Given the description of an element on the screen output the (x, y) to click on. 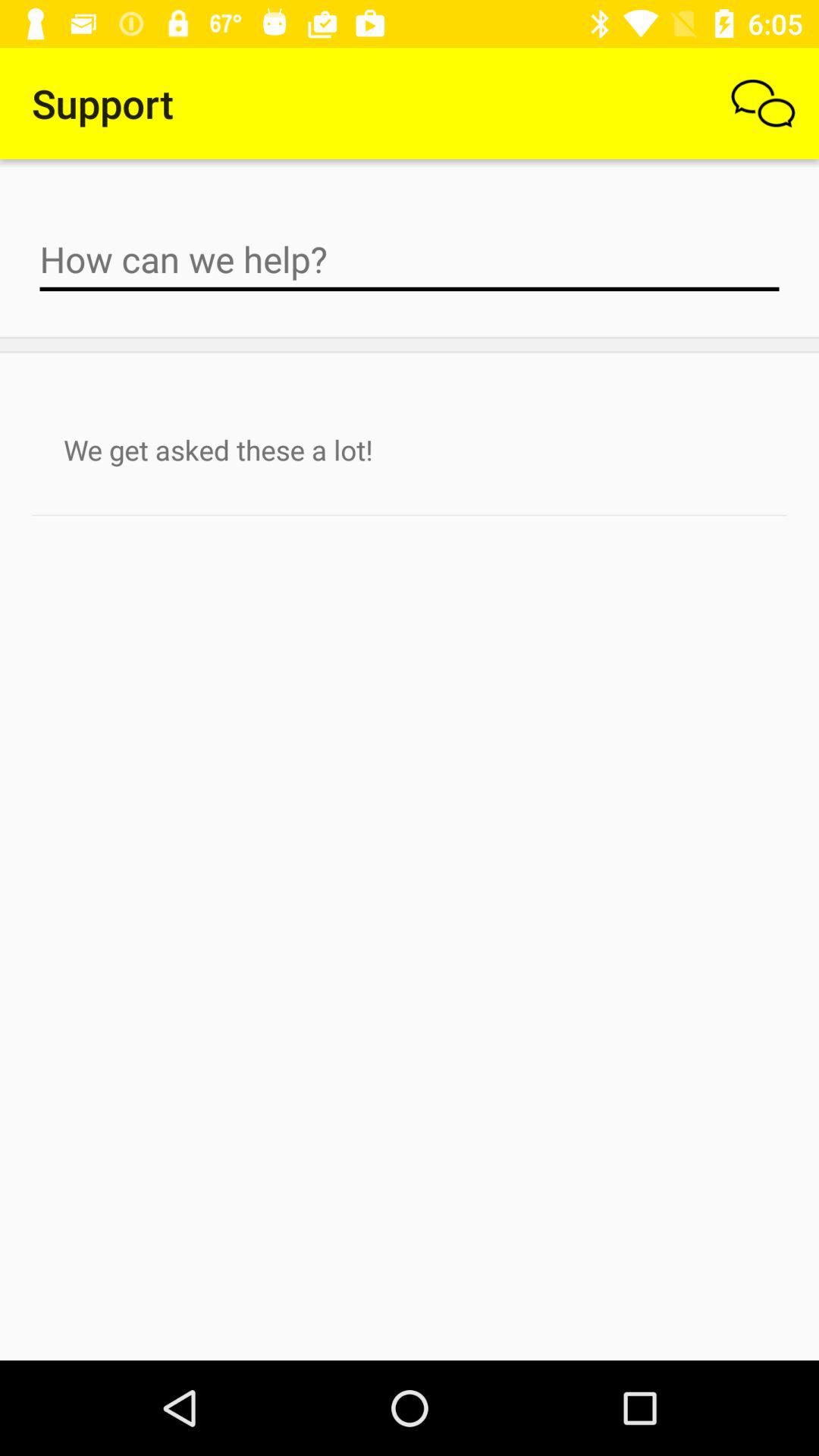
select we get asked (409, 449)
